Given the description of an element on the screen output the (x, y) to click on. 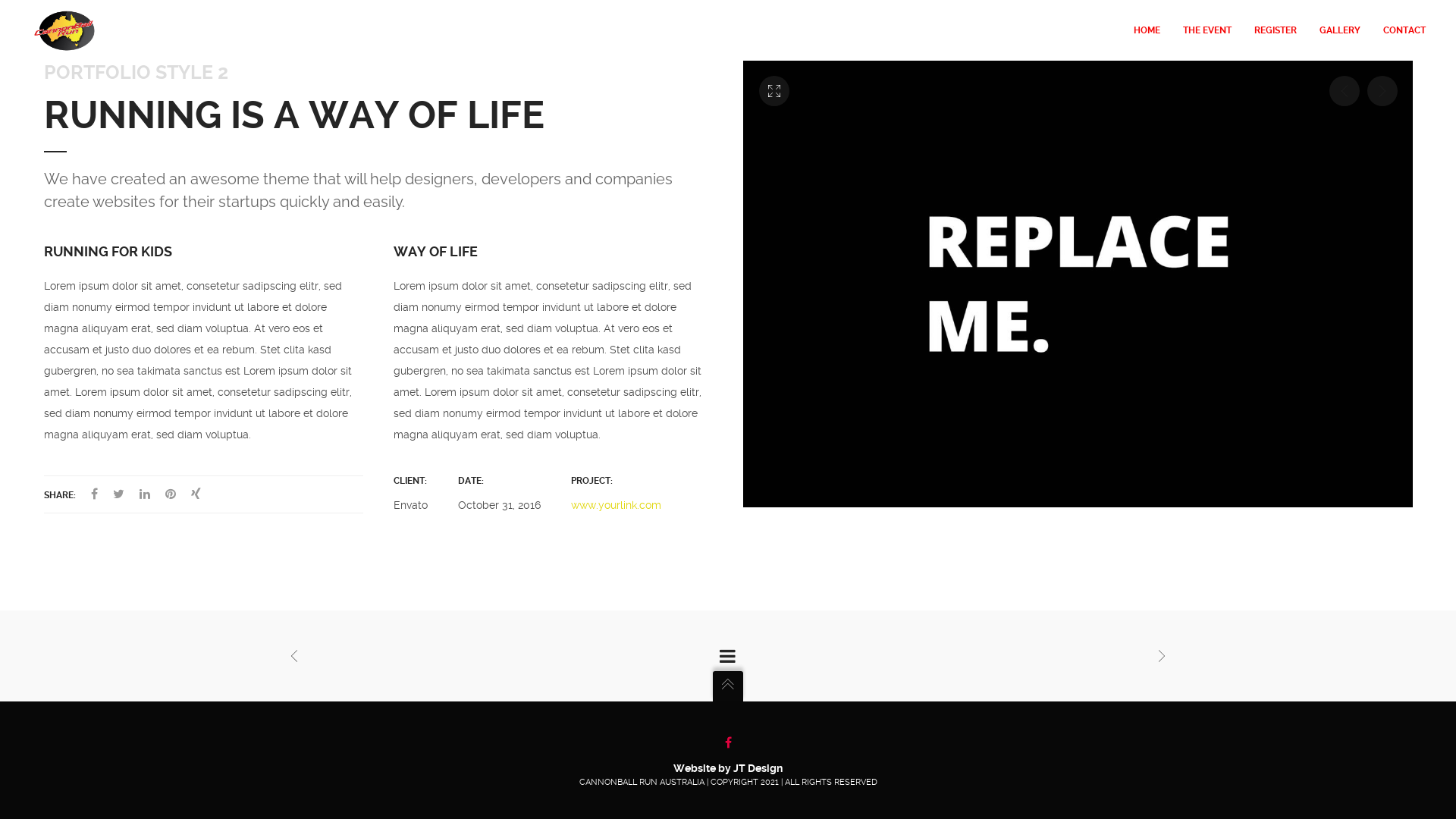
HOME Element type: text (1146, 30)
REGISTER Element type: text (1275, 30)
CONTACT Element type: text (1398, 30)
GALLERY Element type: text (1339, 30)
www.yourlink.com Element type: text (616, 504)
THE EVENT Element type: text (1206, 30)
